Given the description of an element on the screen output the (x, y) to click on. 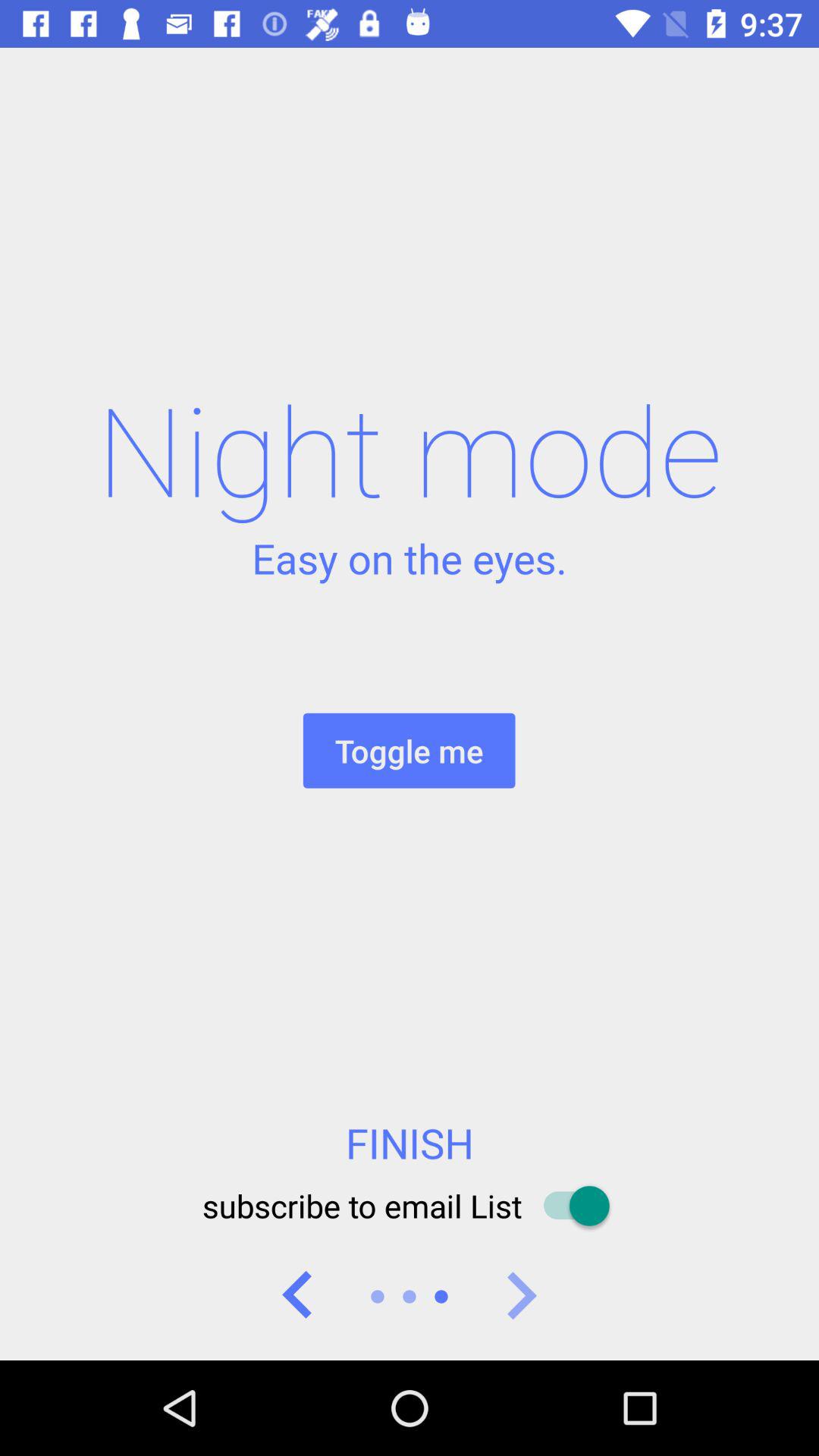
tap icon below the subscribe to email icon (520, 1296)
